Given the description of an element on the screen output the (x, y) to click on. 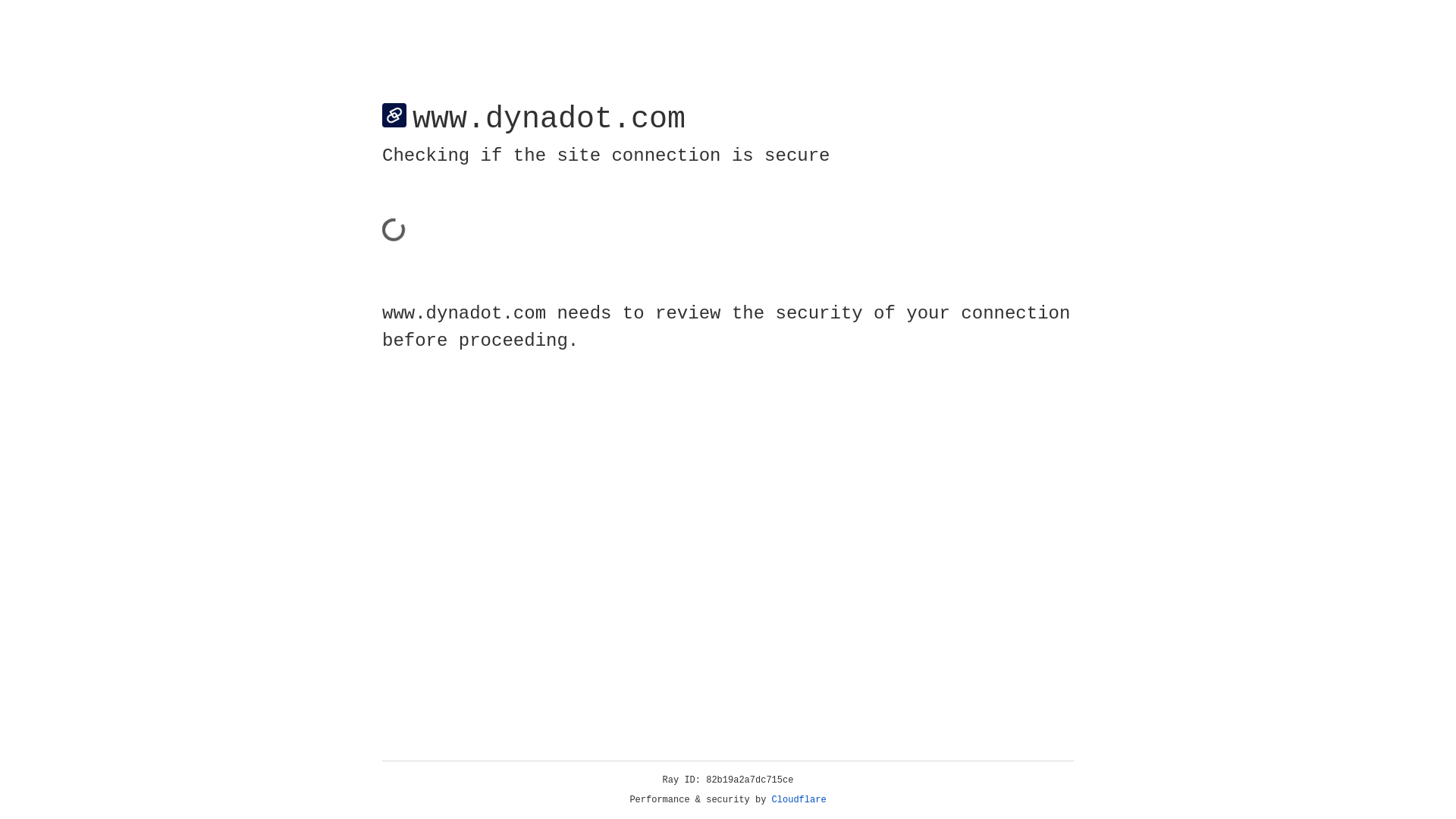
Cloudflare Element type: text (798, 799)
